Given the description of an element on the screen output the (x, y) to click on. 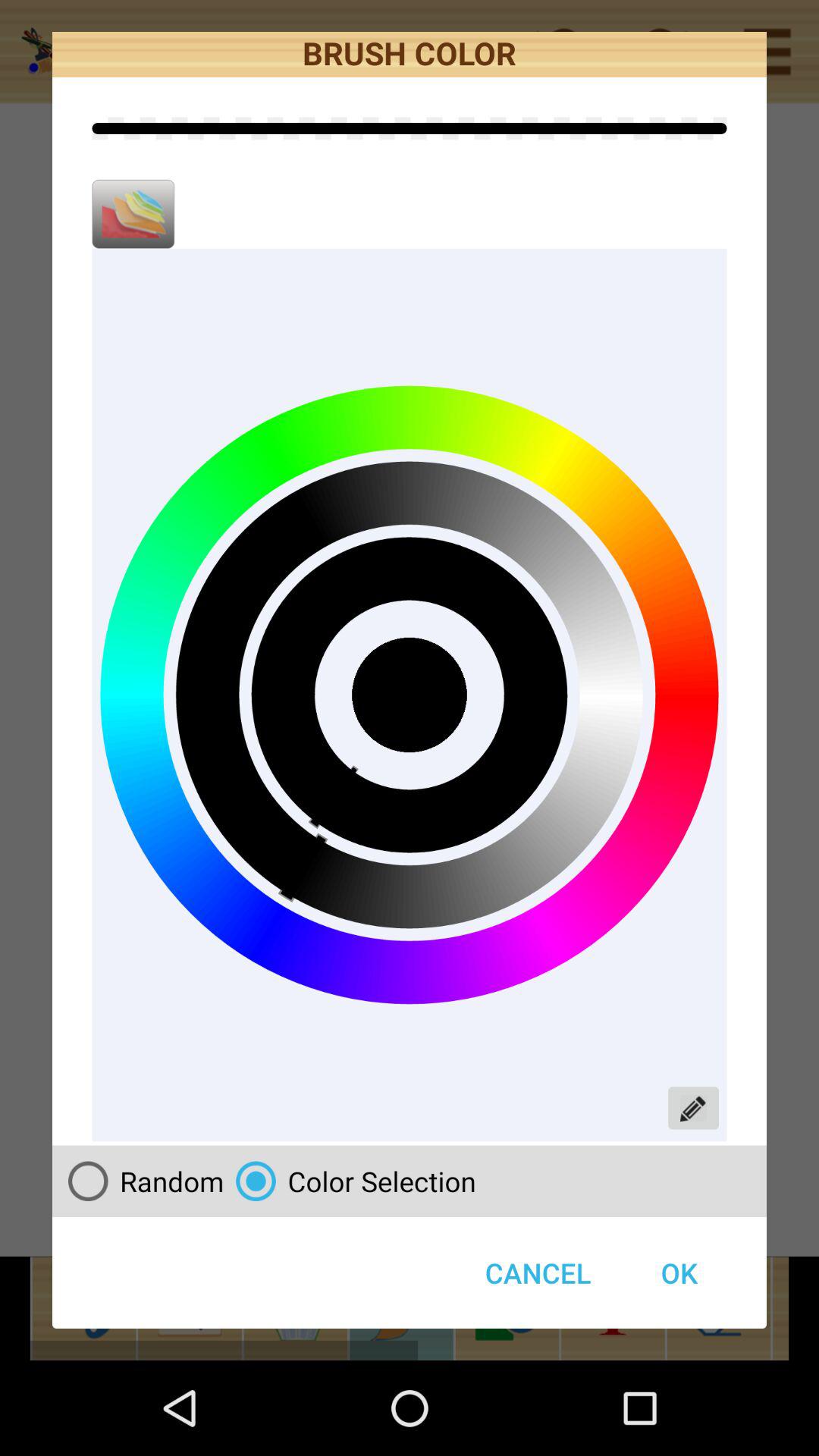
choose the item at the top left corner (133, 213)
